Given the description of an element on the screen output the (x, y) to click on. 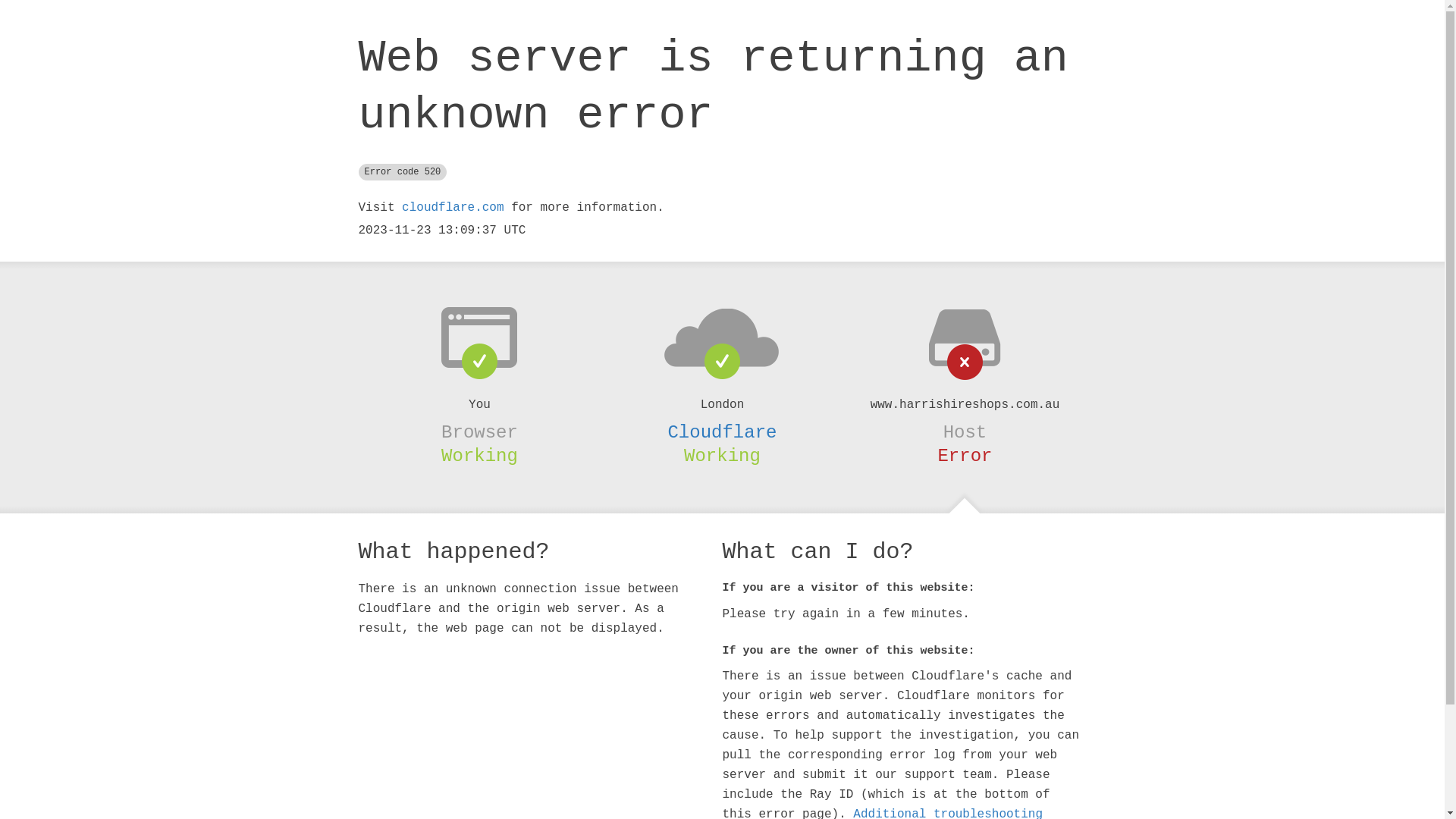
Cloudflare Element type: text (721, 432)
cloudflare.com Element type: text (452, 207)
